Given the description of an element on the screen output the (x, y) to click on. 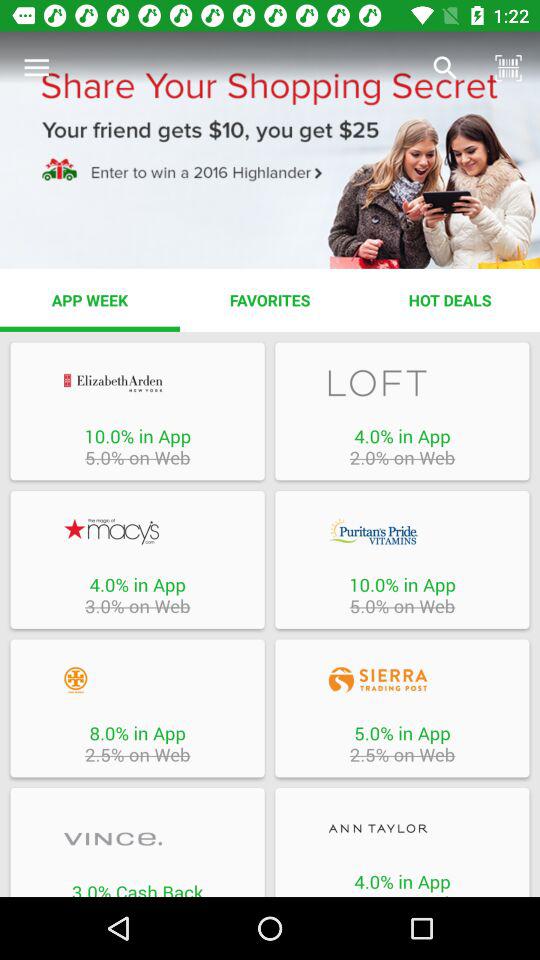
go to website (137, 531)
